Given the description of an element on the screen output the (x, y) to click on. 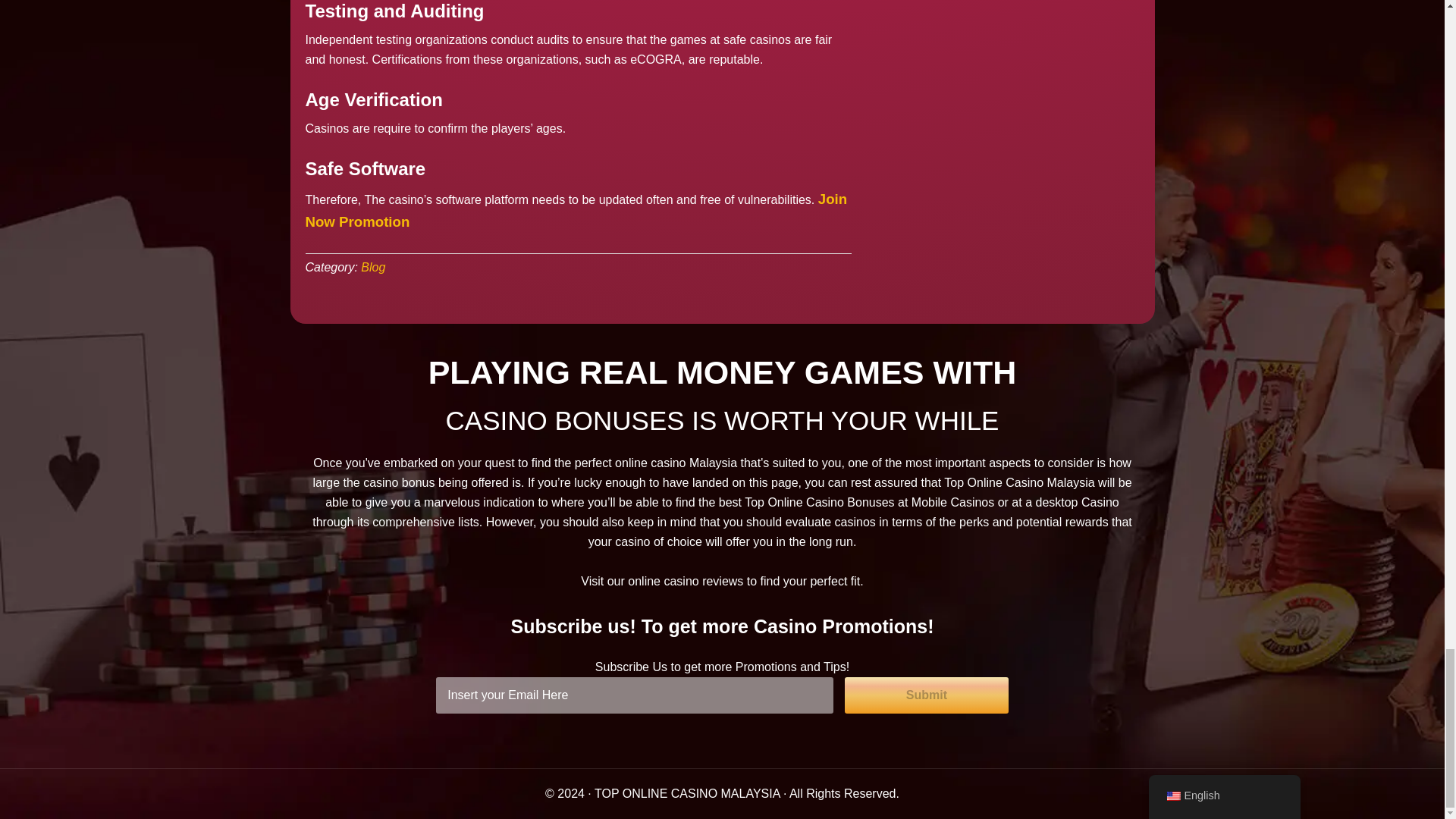
Insert your Email Here (633, 695)
Submit (926, 695)
